Given the description of an element on the screen output the (x, y) to click on. 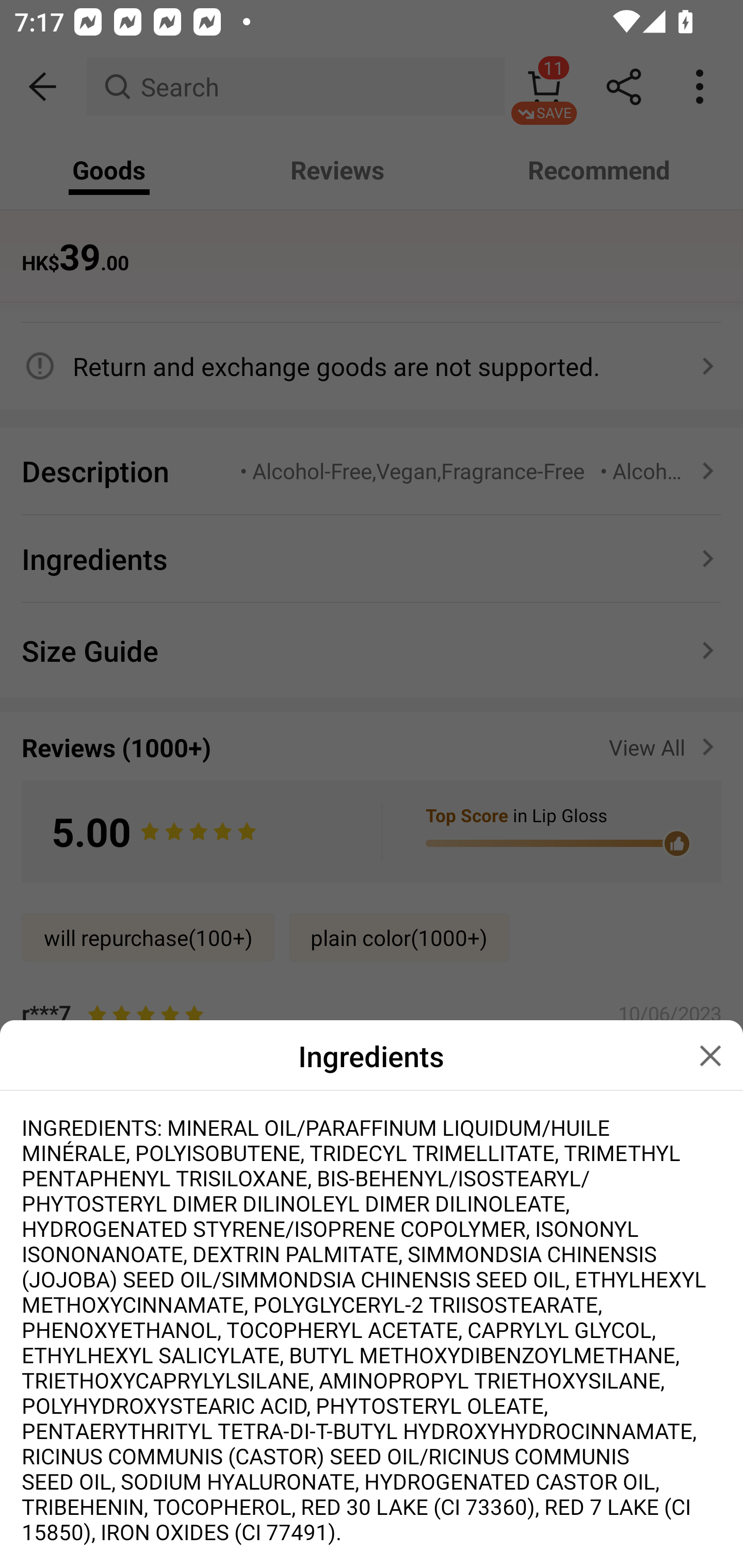
Close (710, 1056)
